Given the description of an element on the screen output the (x, y) to click on. 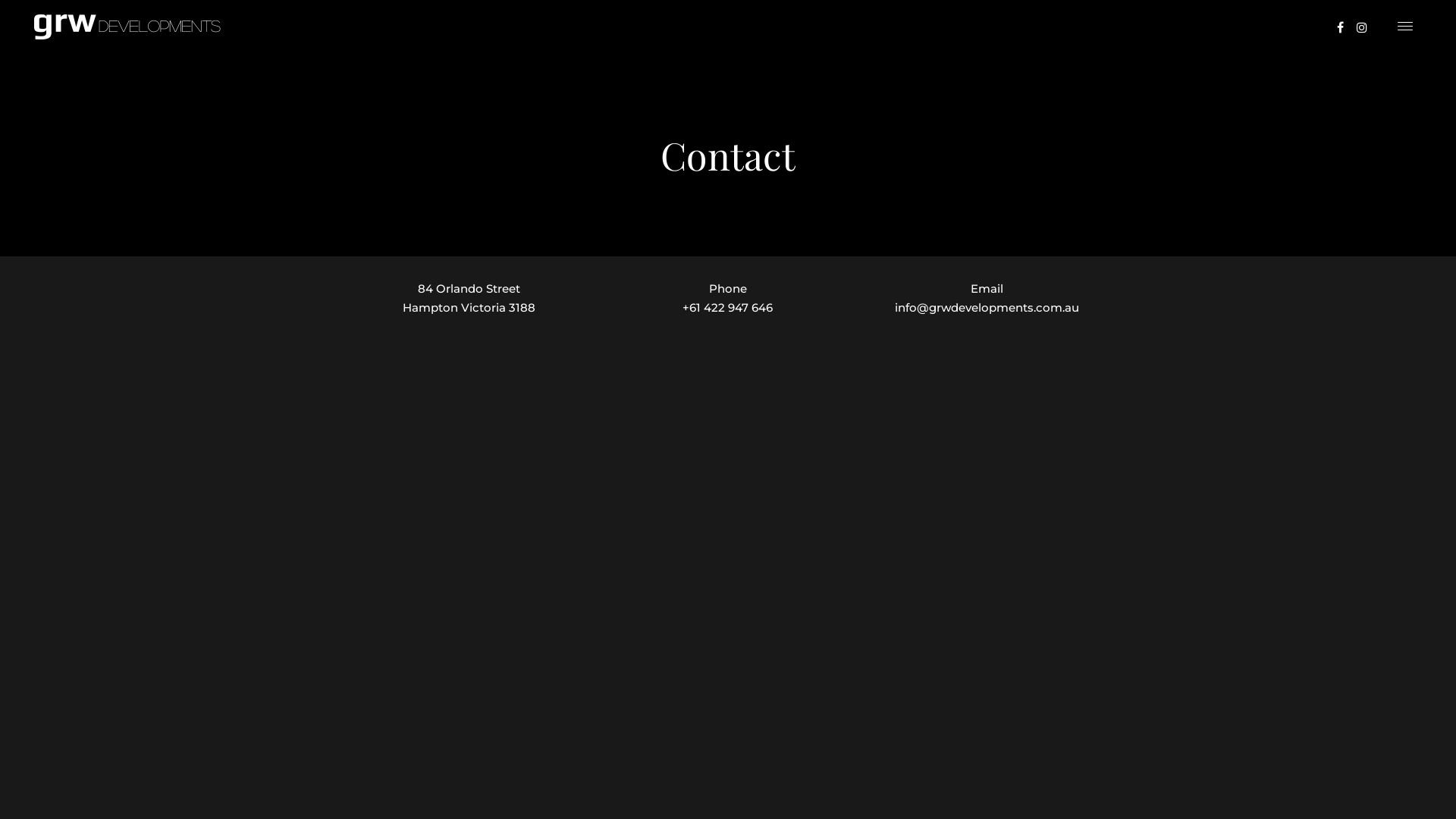
+61 422 947 646 Element type: text (727, 307)
info@grwdevelopments.com.au Element type: text (986, 307)
